Given the description of an element on the screen output the (x, y) to click on. 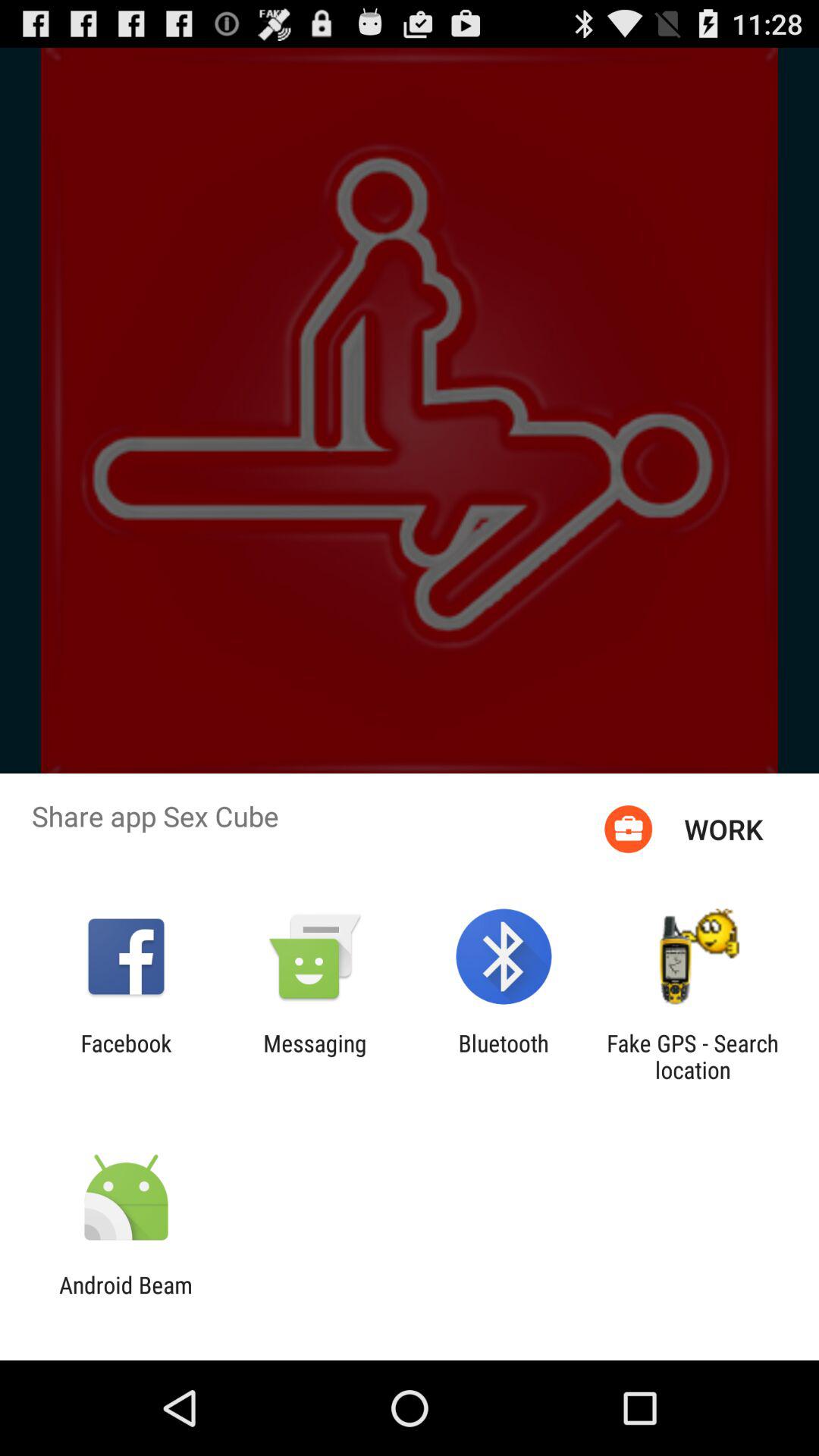
press item next to the bluetooth app (314, 1056)
